Given the description of an element on the screen output the (x, y) to click on. 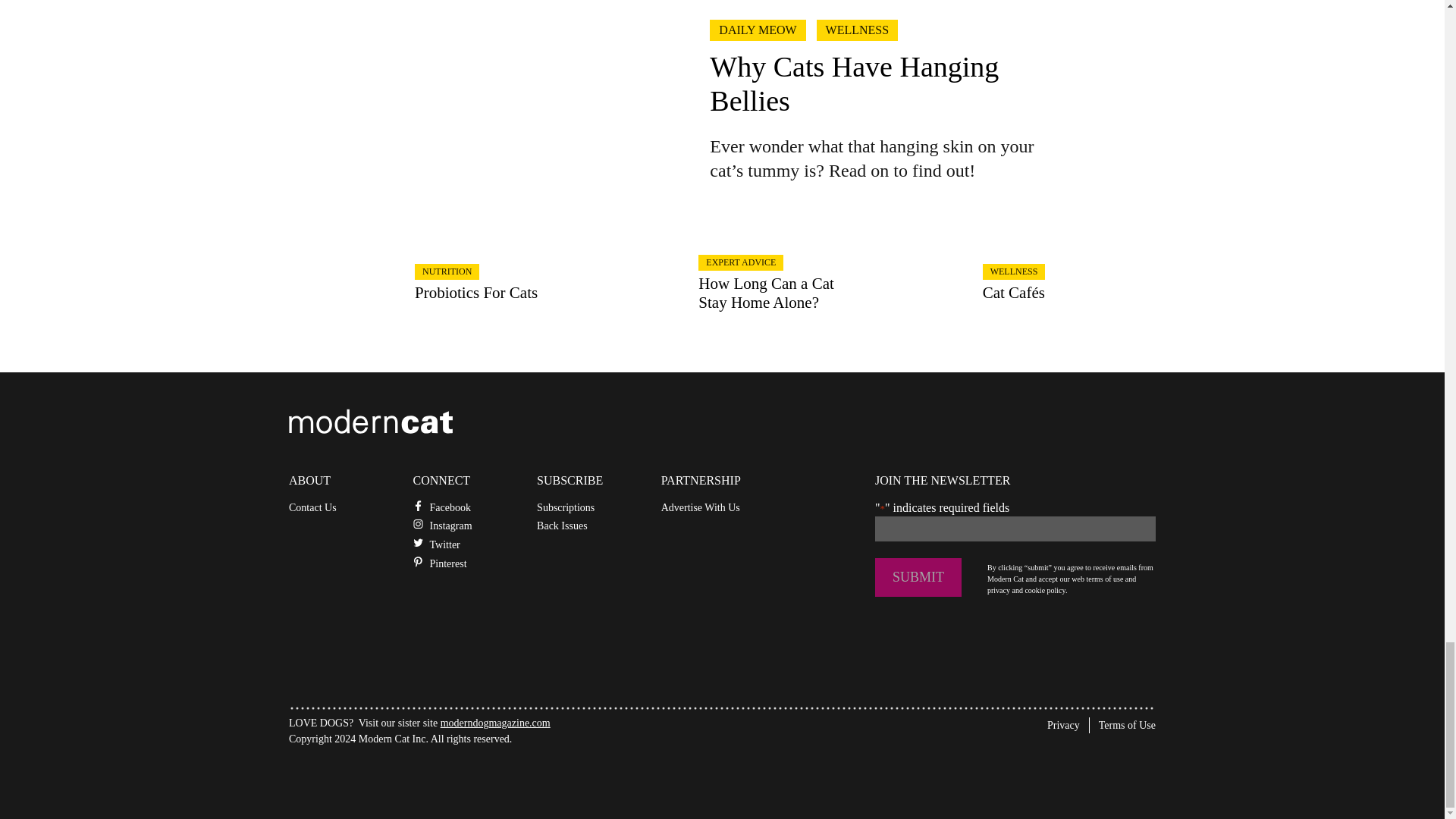
Funded by the Government of Canada (402, 776)
Submit (917, 577)
